Given the description of an element on the screen output the (x, y) to click on. 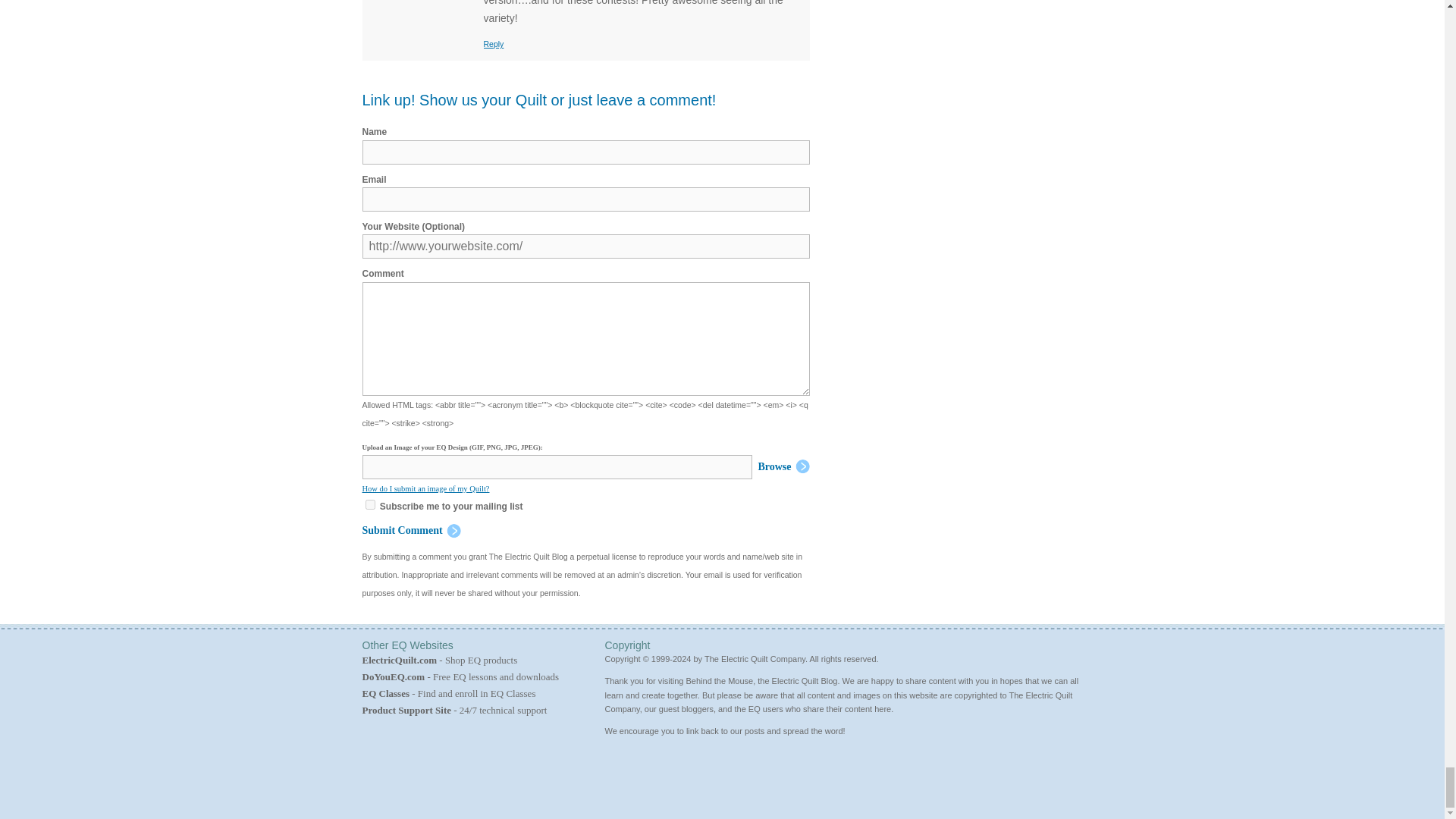
Submit Comment (411, 530)
subscribe (370, 504)
-28 (444, 524)
